Given the description of an element on the screen output the (x, y) to click on. 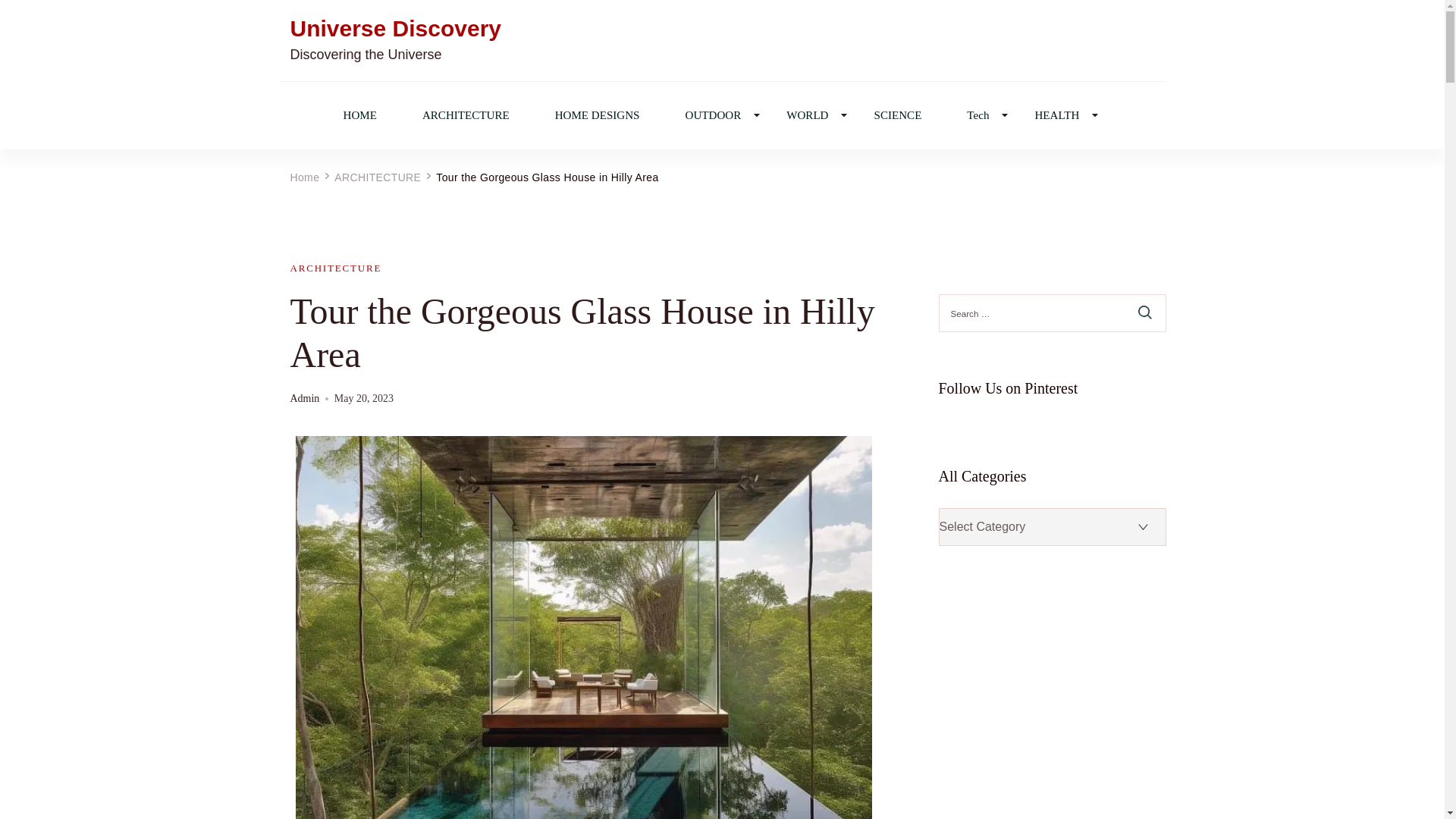
SCIENCE (898, 114)
Search (1145, 313)
Search (1145, 313)
OUTDOOR (713, 114)
HOME DESIGNS (597, 114)
ARCHITECTURE (465, 114)
WORLD (807, 114)
Universe Discovery (394, 28)
HOME (358, 114)
Tech (977, 114)
